Given the description of an element on the screen output the (x, y) to click on. 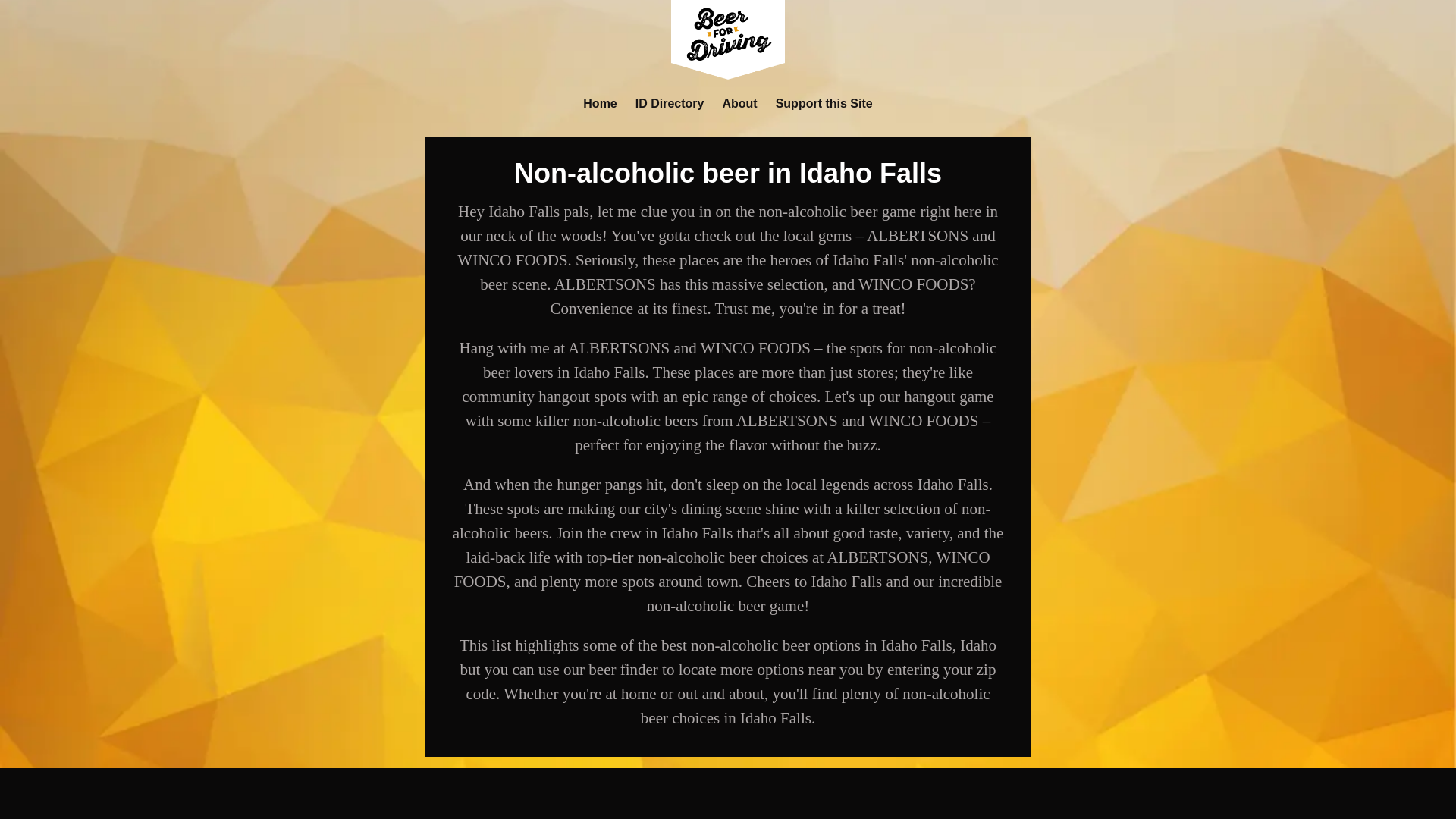
Home (599, 103)
Support this Site (824, 103)
ID Directory (669, 103)
About (739, 103)
